Given the description of an element on the screen output the (x, y) to click on. 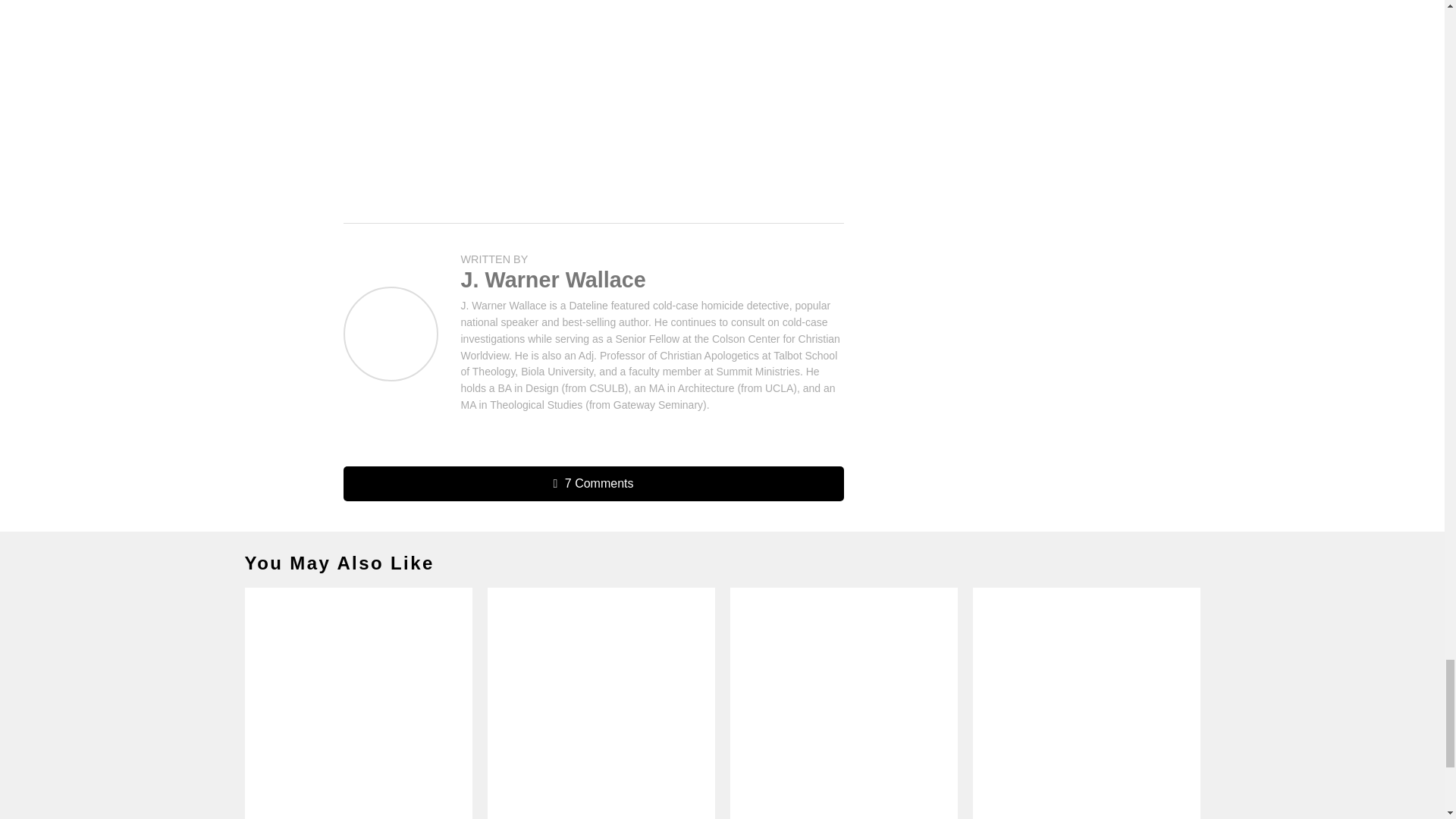
Posts by J. Warner Wallace (553, 279)
